Given the description of an element on the screen output the (x, y) to click on. 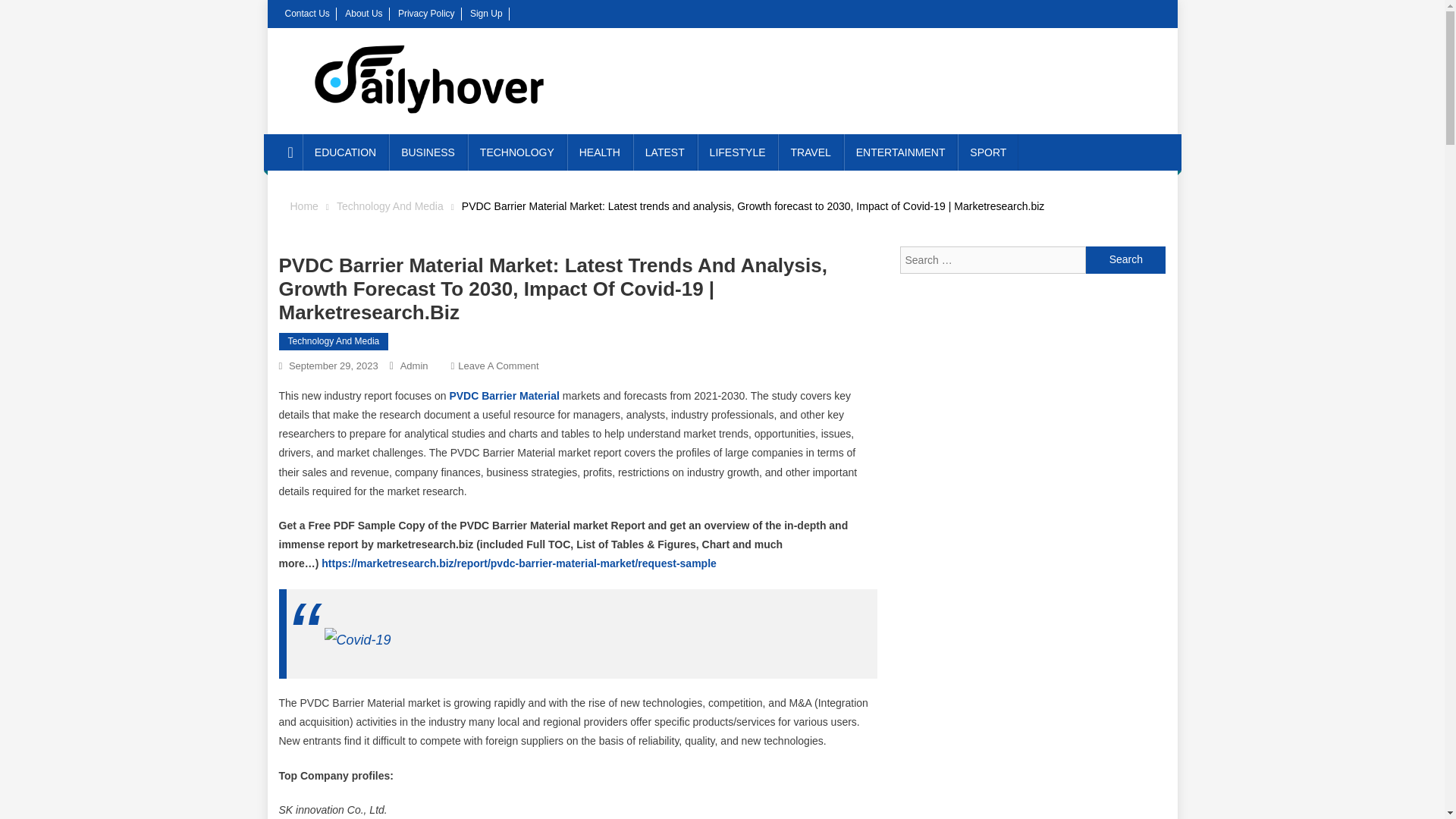
TECHNOLOGY (516, 152)
Search (1126, 259)
Privacy Policy (425, 13)
SPORT (987, 152)
About Us (363, 13)
TRAVEL (810, 152)
Contact Us (307, 13)
EDUCATION (345, 152)
Search (1126, 259)
LATEST (665, 152)
ENTERTAINMENT (901, 152)
LIFESTYLE (737, 152)
HEALTH (599, 152)
Technology And Media (333, 341)
BUSINESS (427, 152)
